Given the description of an element on the screen output the (x, y) to click on. 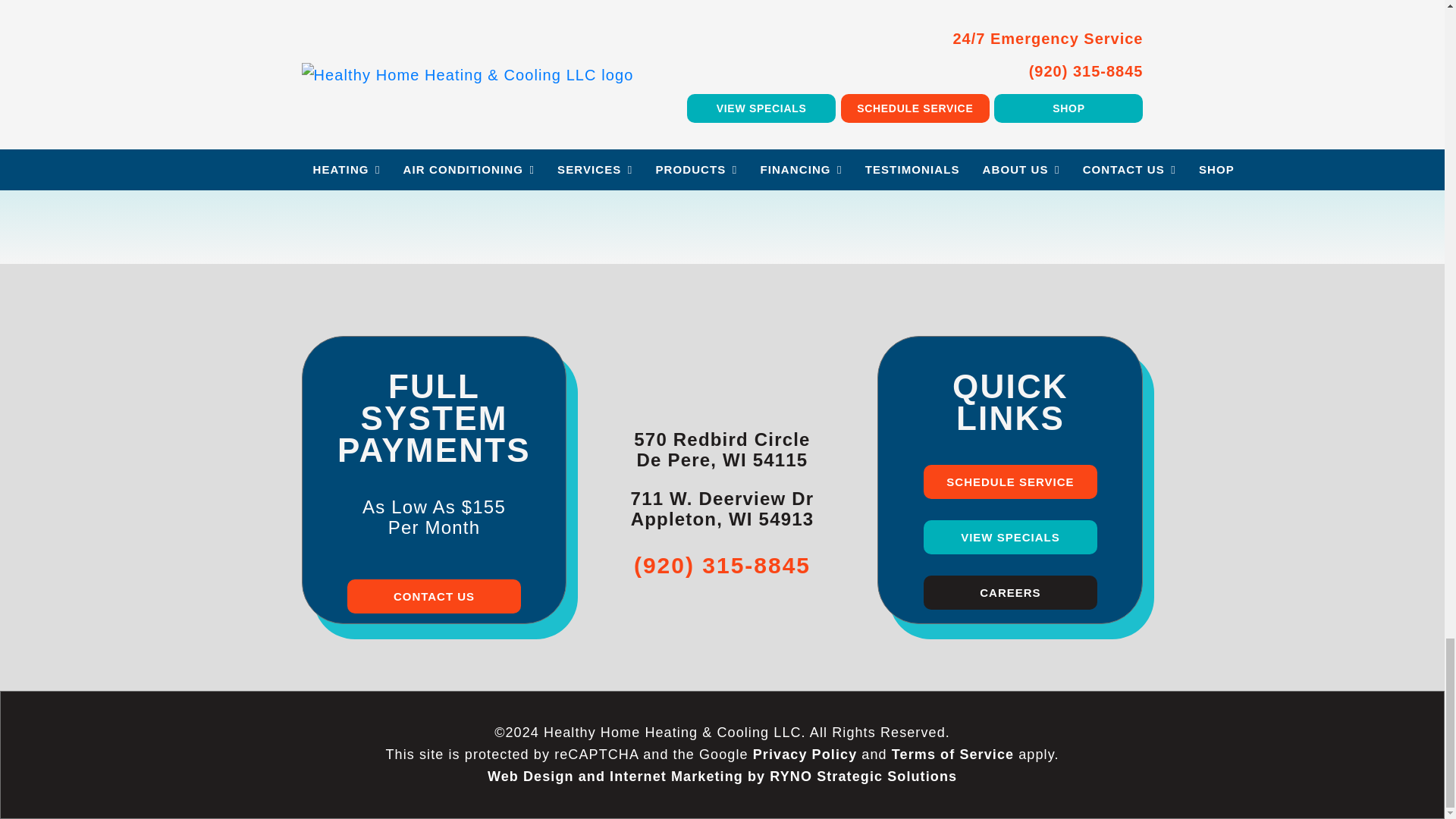
Submit (722, 156)
